Given the description of an element on the screen output the (x, y) to click on. 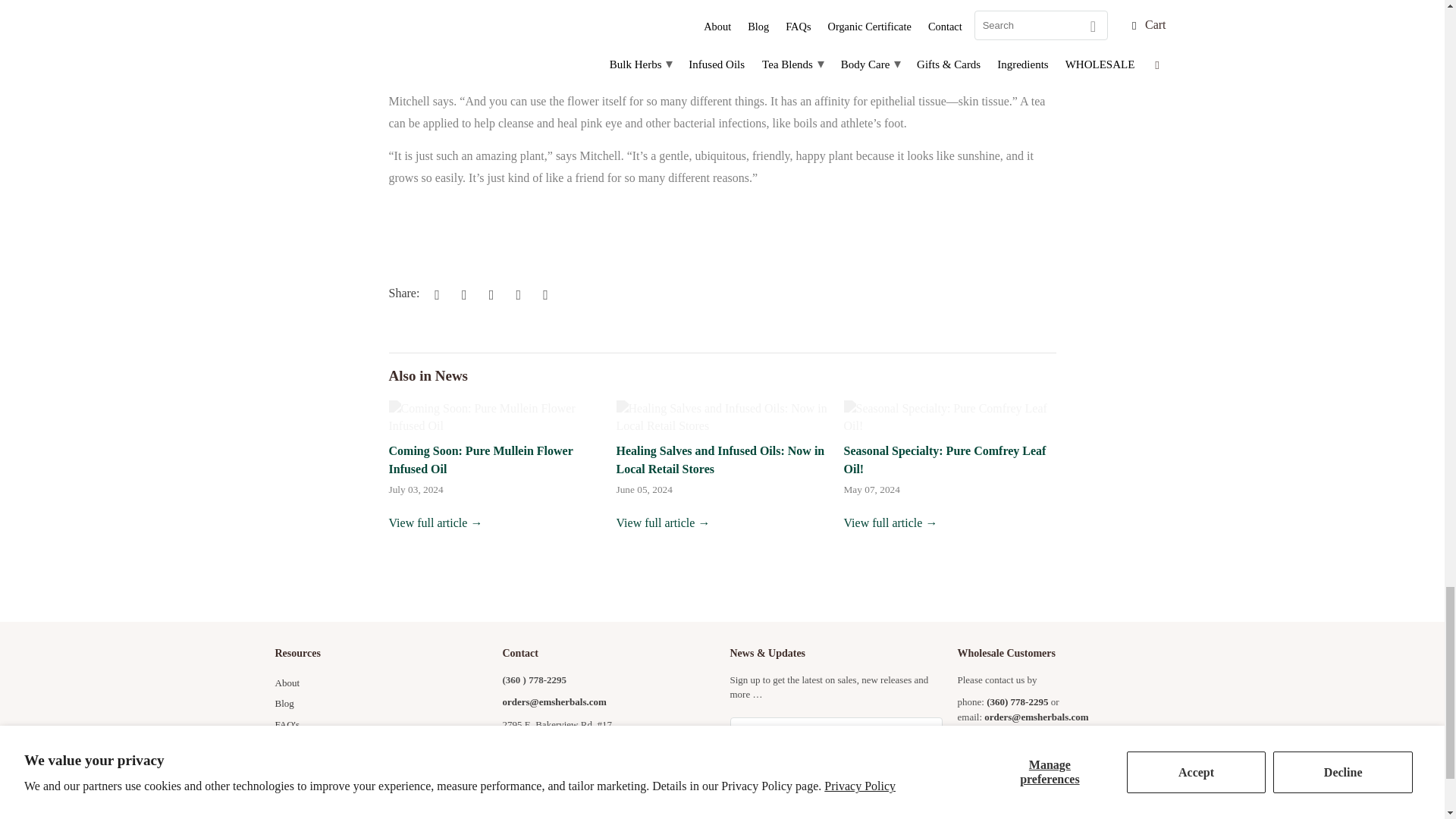
Share this on Facebook (461, 294)
Coming Soon: Pure Mullein Flower Infused Oil (434, 522)
Coming Soon: Pure Mullein Flower Infused Oil (493, 417)
Share this on Twitter (434, 294)
Coming Soon: Pure Mullein Flower Infused Oil (480, 459)
Email this to a friend (542, 294)
Healing Salves and Infused Oils: Now in Local Retail Stores (719, 459)
Seasonal Specialty: Pure Comfrey Leaf Oil! (890, 522)
Share this on Pinterest (488, 294)
Seasonal Specialty: Pure Comfrey Leaf Oil! (944, 459)
sign Up (835, 772)
Healing Salves and Infused Oils: Now in Local Retail Stores (662, 522)
Healing Salves and Infused Oils: Now in Local Retail Stores (721, 417)
Seasonal Specialty: Pure Comfrey Leaf Oil! (949, 417)
